Given the description of an element on the screen output the (x, y) to click on. 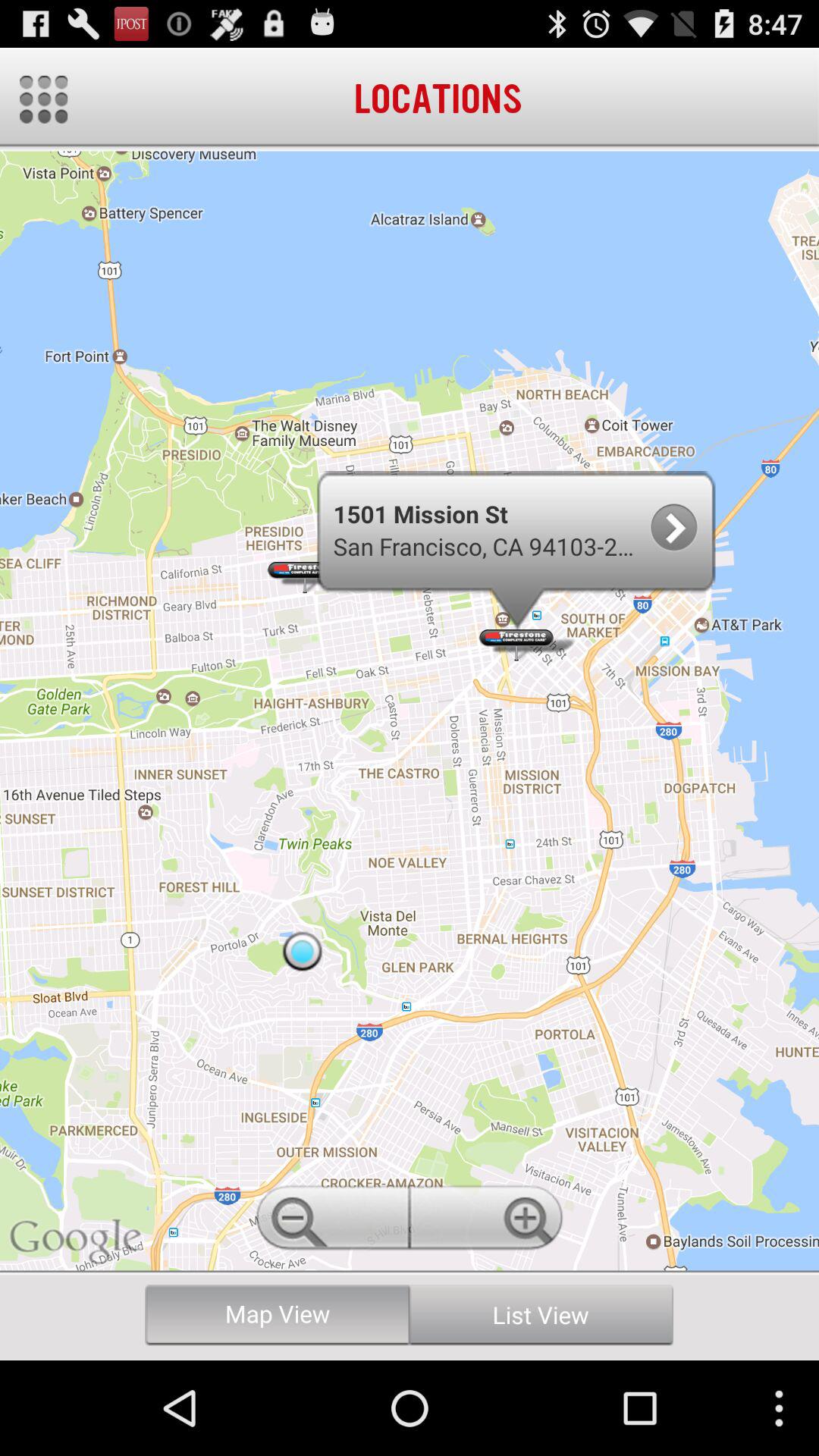
click to menu option (43, 99)
